Given the description of an element on the screen output the (x, y) to click on. 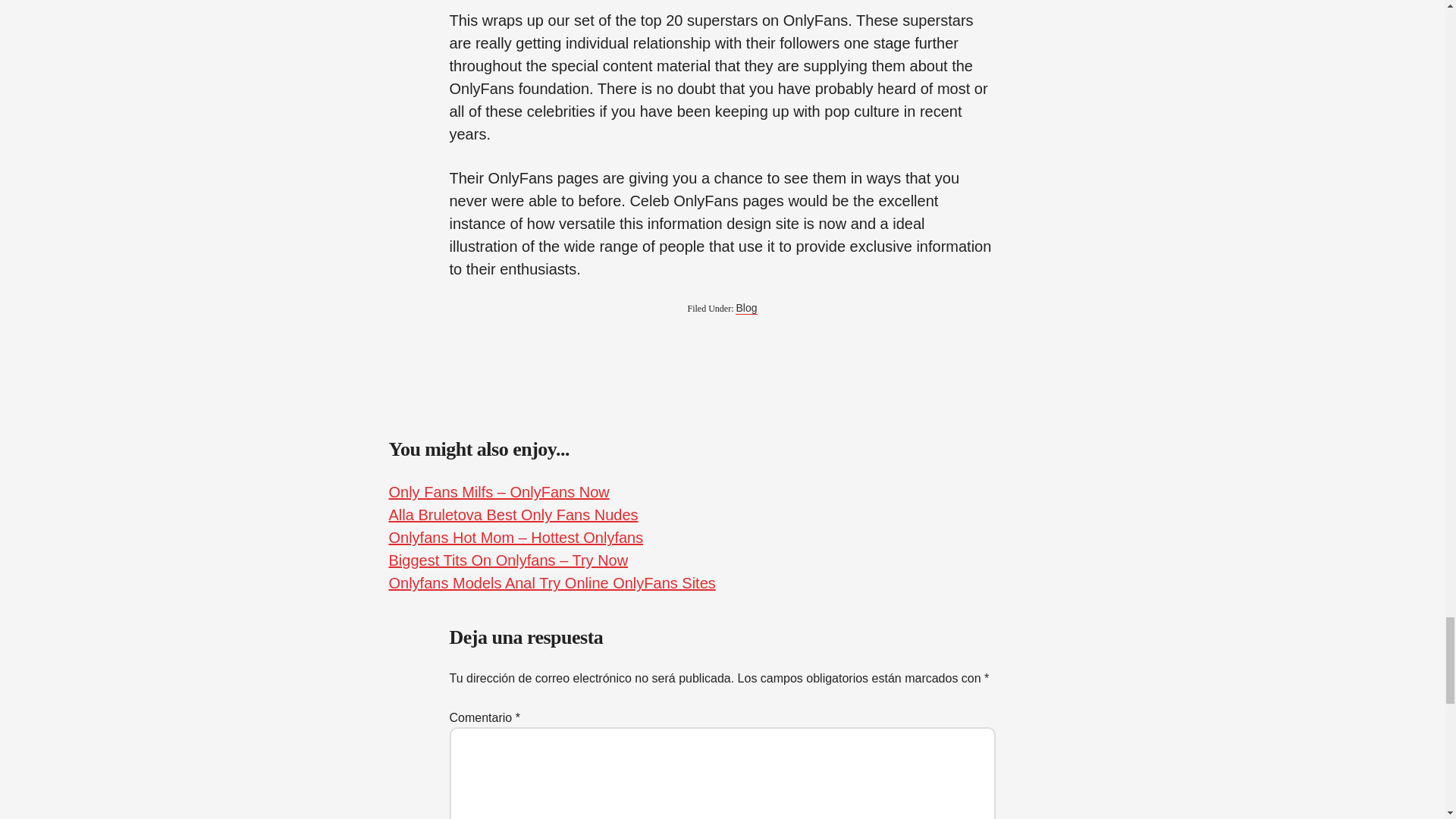
Blog (746, 308)
Permanent Link to Alla Bruletova Best Only Fans Nudes (512, 514)
Alla Bruletova Best Only Fans Nudes (512, 514)
Onlyfans Models Anal Try Online OnlyFans Sites (551, 582)
